Given the description of an element on the screen output the (x, y) to click on. 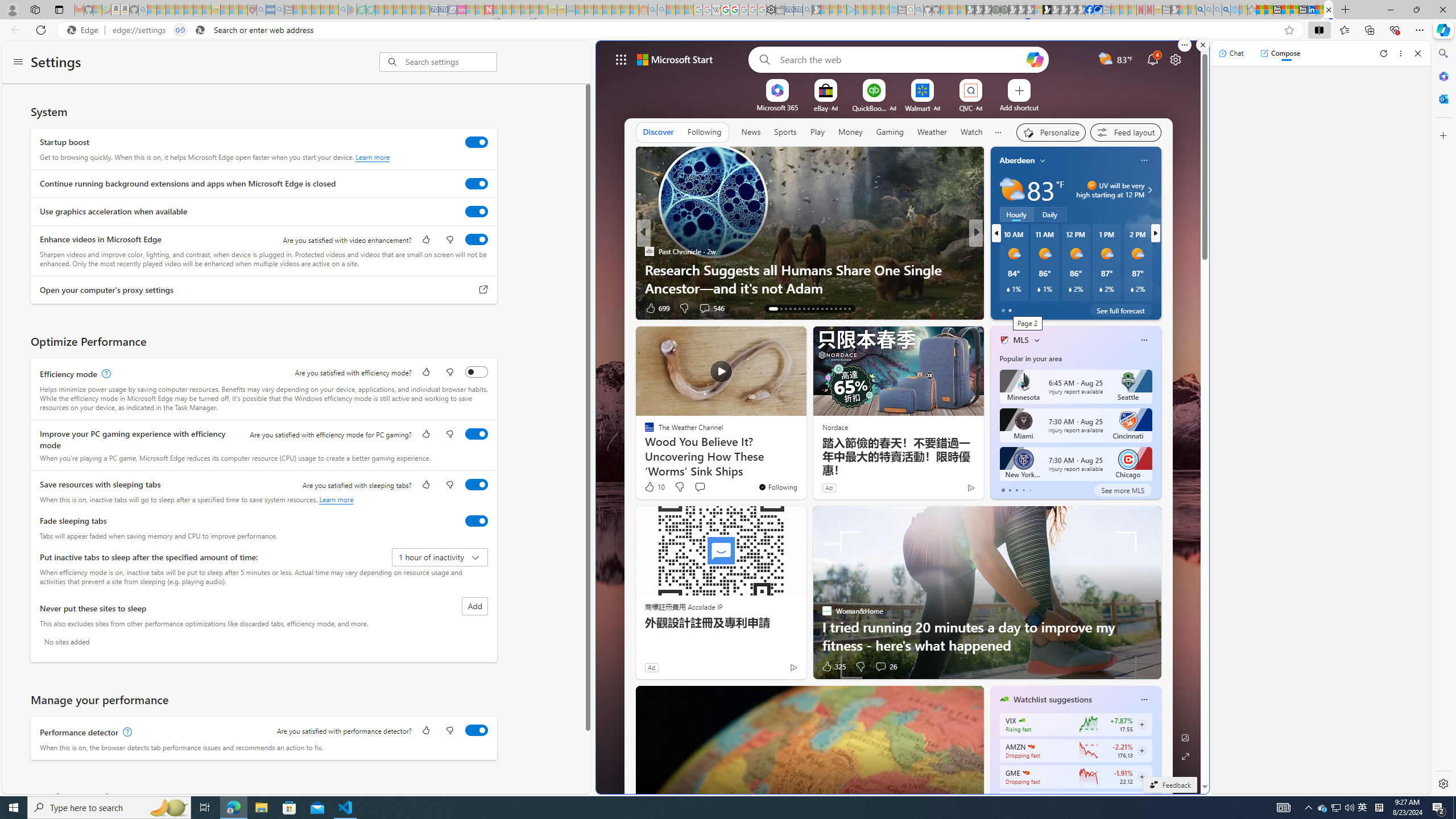
Chat (1230, 52)
View comments 14 Comment (1056, 307)
Add a site (1018, 107)
AutomationID: tab-17 (794, 308)
Partly sunny (1011, 189)
More options. (1183, 45)
